Given the description of an element on the screen output the (x, y) to click on. 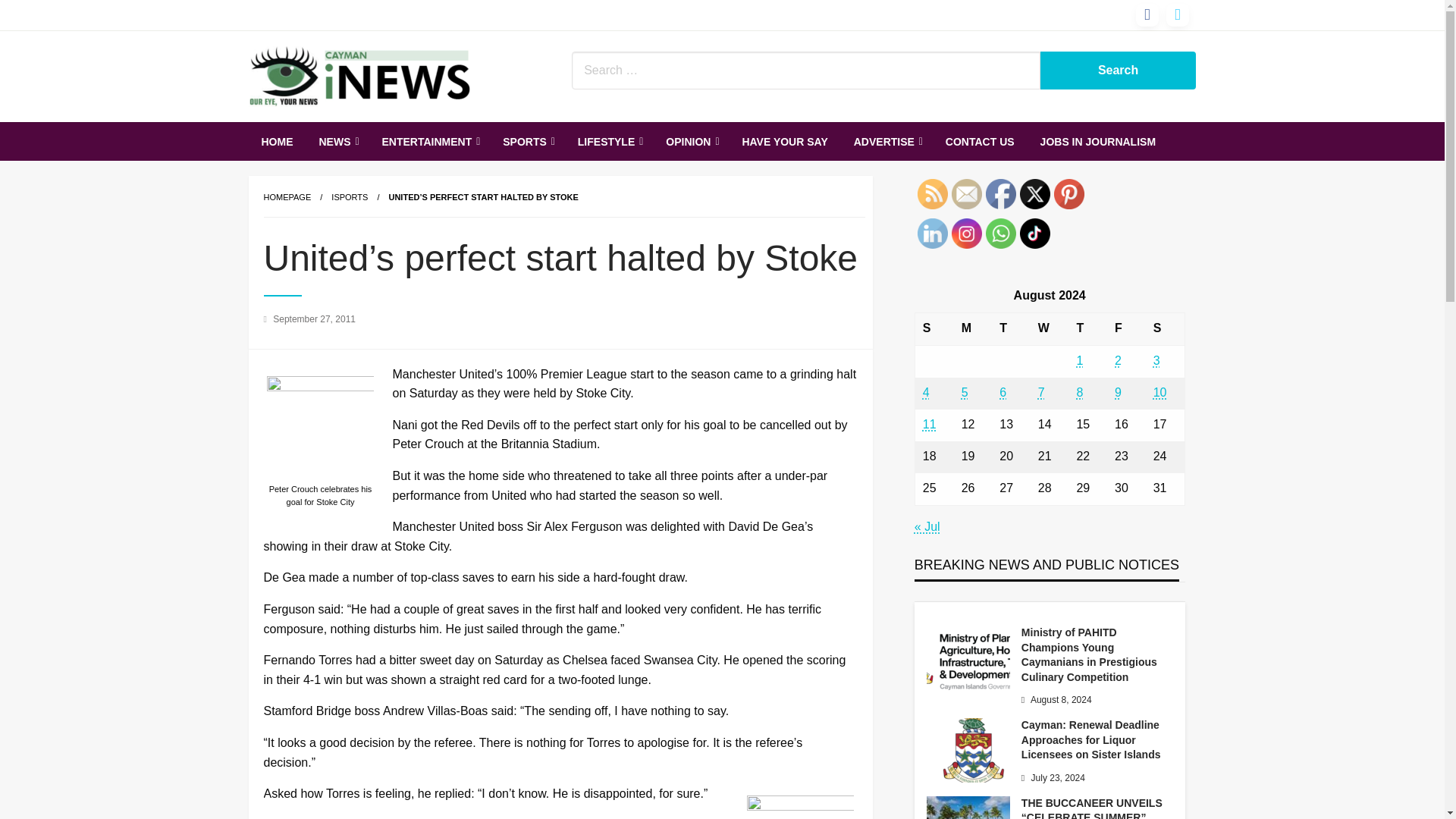
ISports (349, 196)
Search (1118, 70)
P30 Pic 1 (320, 429)
RSS (932, 194)
NEWS (337, 141)
ENTERTAINMENT (428, 141)
Follow by Email (966, 194)
LIFESTYLE (608, 141)
Jobs in Journalism on Jooble (1098, 141)
Search (1118, 70)
